Given the description of an element on the screen output the (x, y) to click on. 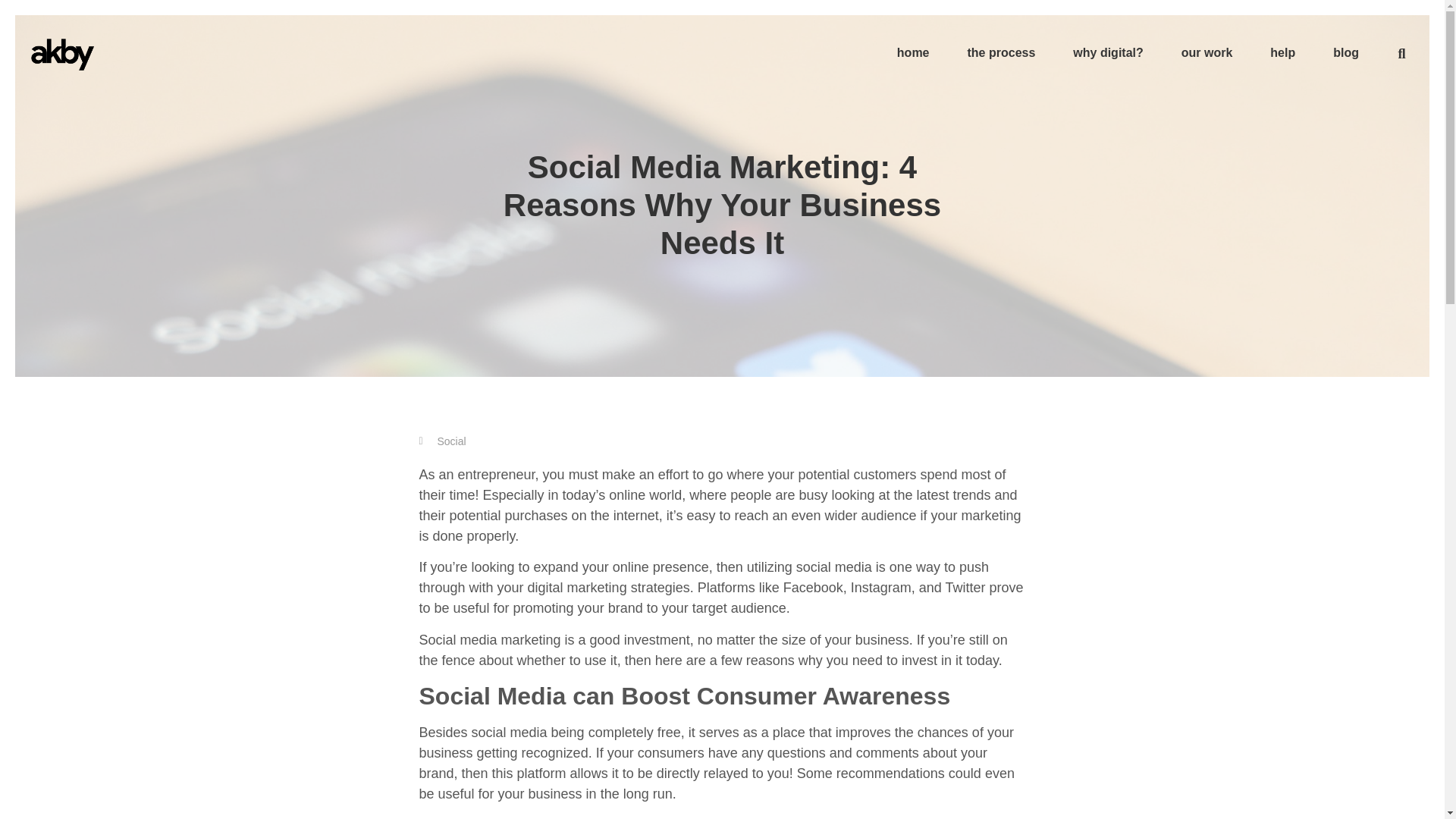
Social (450, 440)
our work (1206, 53)
why digital? (1107, 53)
home (913, 53)
help (1282, 53)
blog (1345, 53)
the process (1001, 53)
